Given the description of an element on the screen output the (x, y) to click on. 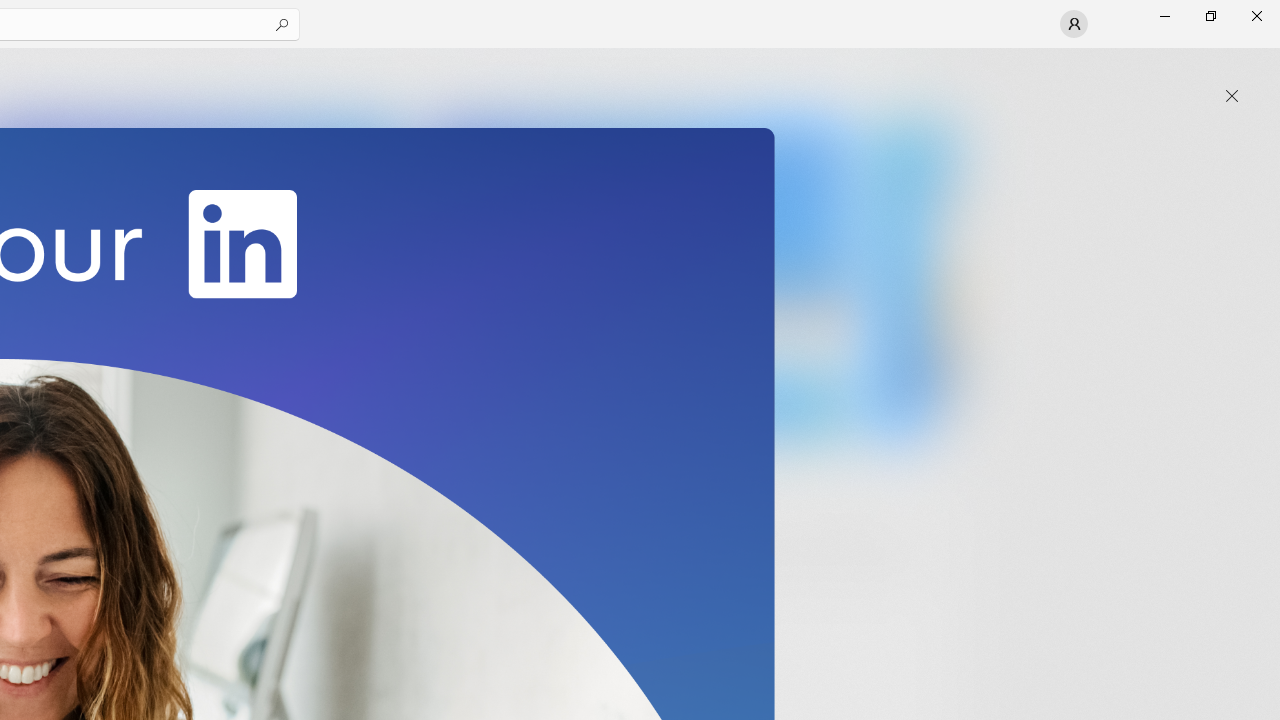
See all (924, 72)
close popup window (1232, 95)
Screenshot 4 (912, 279)
Screenshot 3 (636, 279)
